Given the description of an element on the screen output the (x, y) to click on. 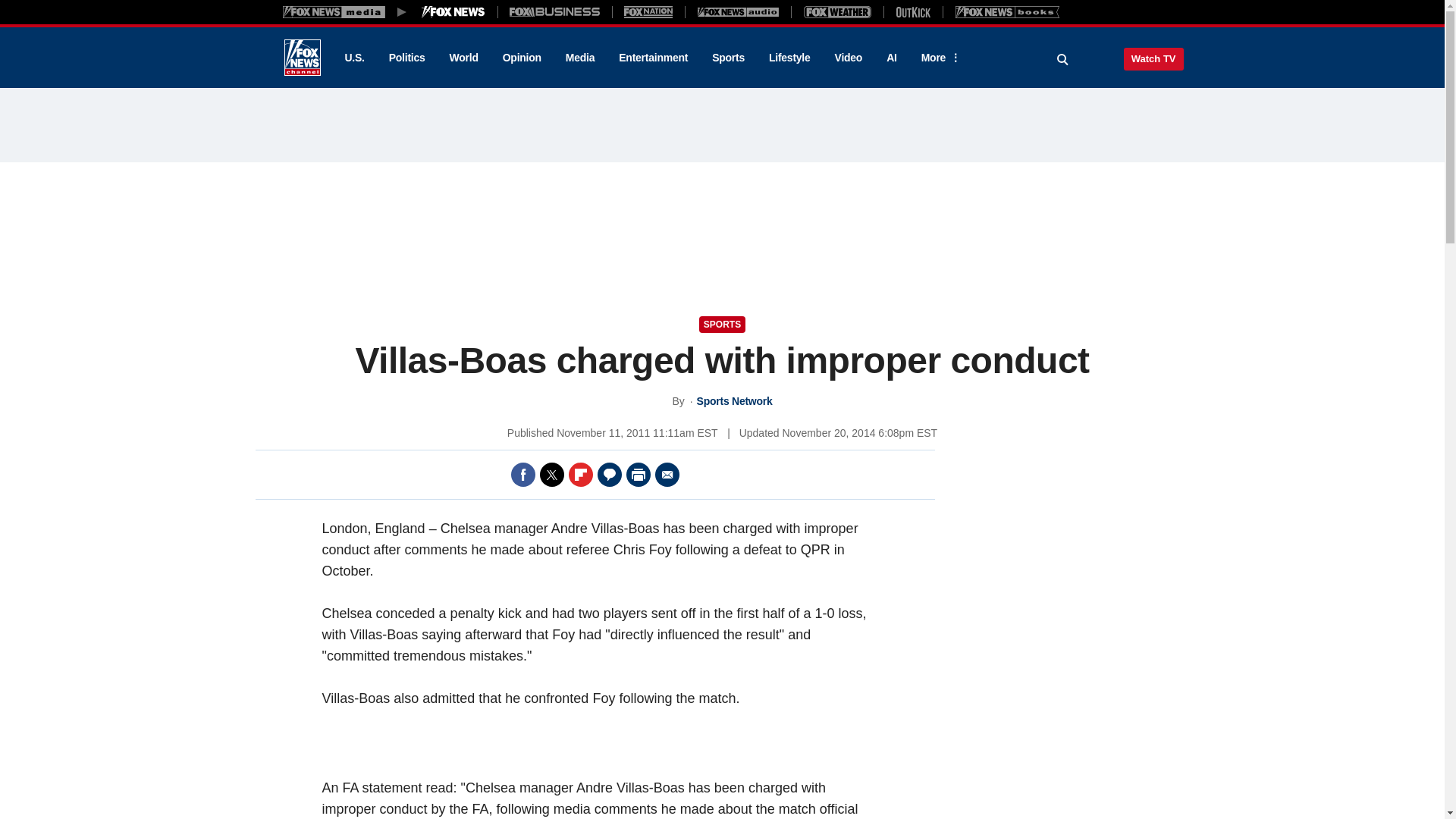
Fox News Audio (737, 11)
Video (848, 57)
U.S. (353, 57)
Opinion (521, 57)
Watch TV (1153, 58)
World (464, 57)
Outkick (912, 11)
Sports (728, 57)
Fox Weather (836, 11)
Entertainment (653, 57)
Fox Nation (648, 11)
AI (891, 57)
Fox News Media (453, 11)
Lifestyle (789, 57)
Books (1007, 11)
